Given the description of an element on the screen output the (x, y) to click on. 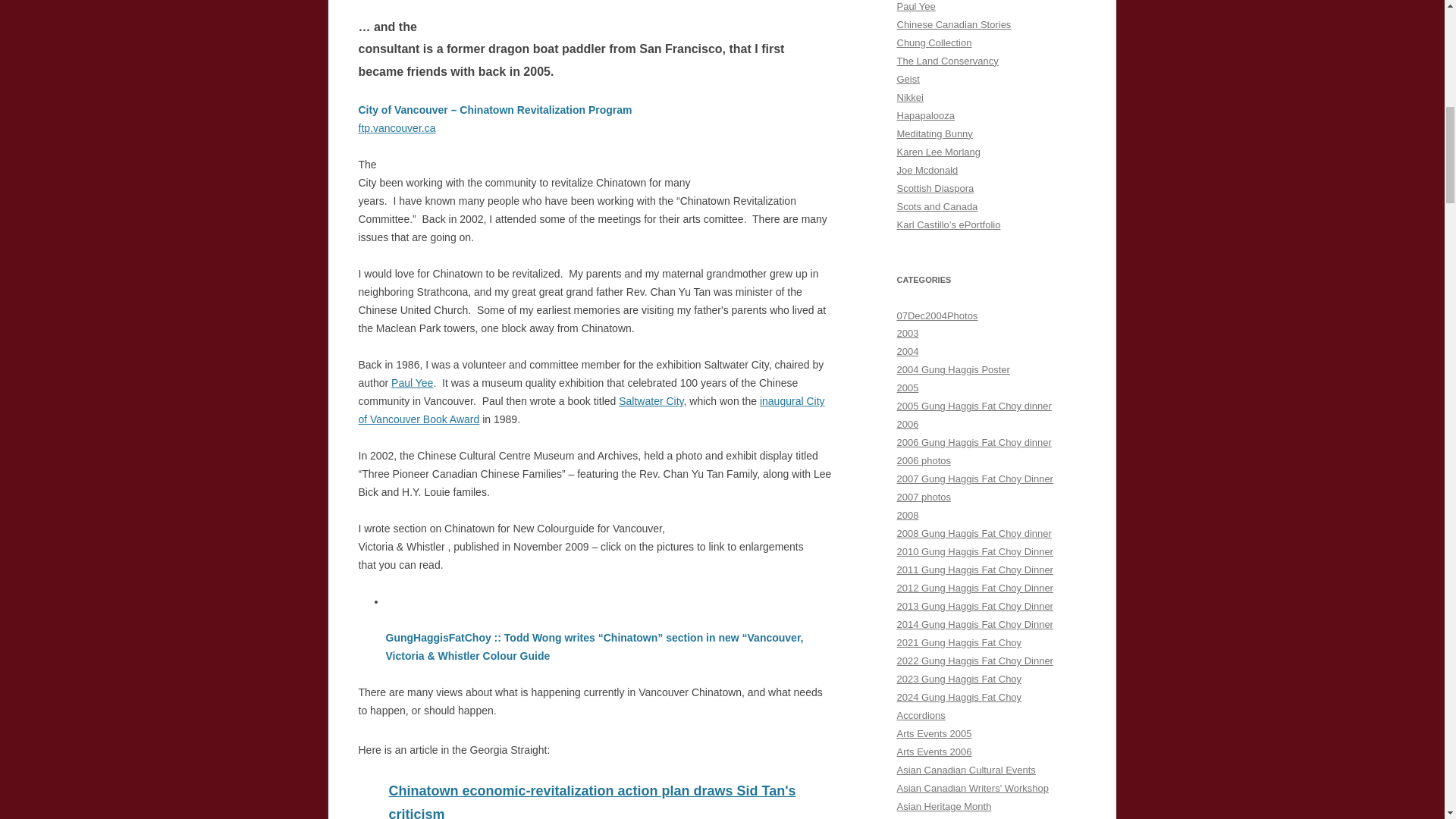
ftp.vancouver.ca (396, 128)
inaugural City of Vancouver Book Award (591, 409)
Saltwater City (650, 400)
Paul Yee (411, 382)
